Given the description of an element on the screen output the (x, y) to click on. 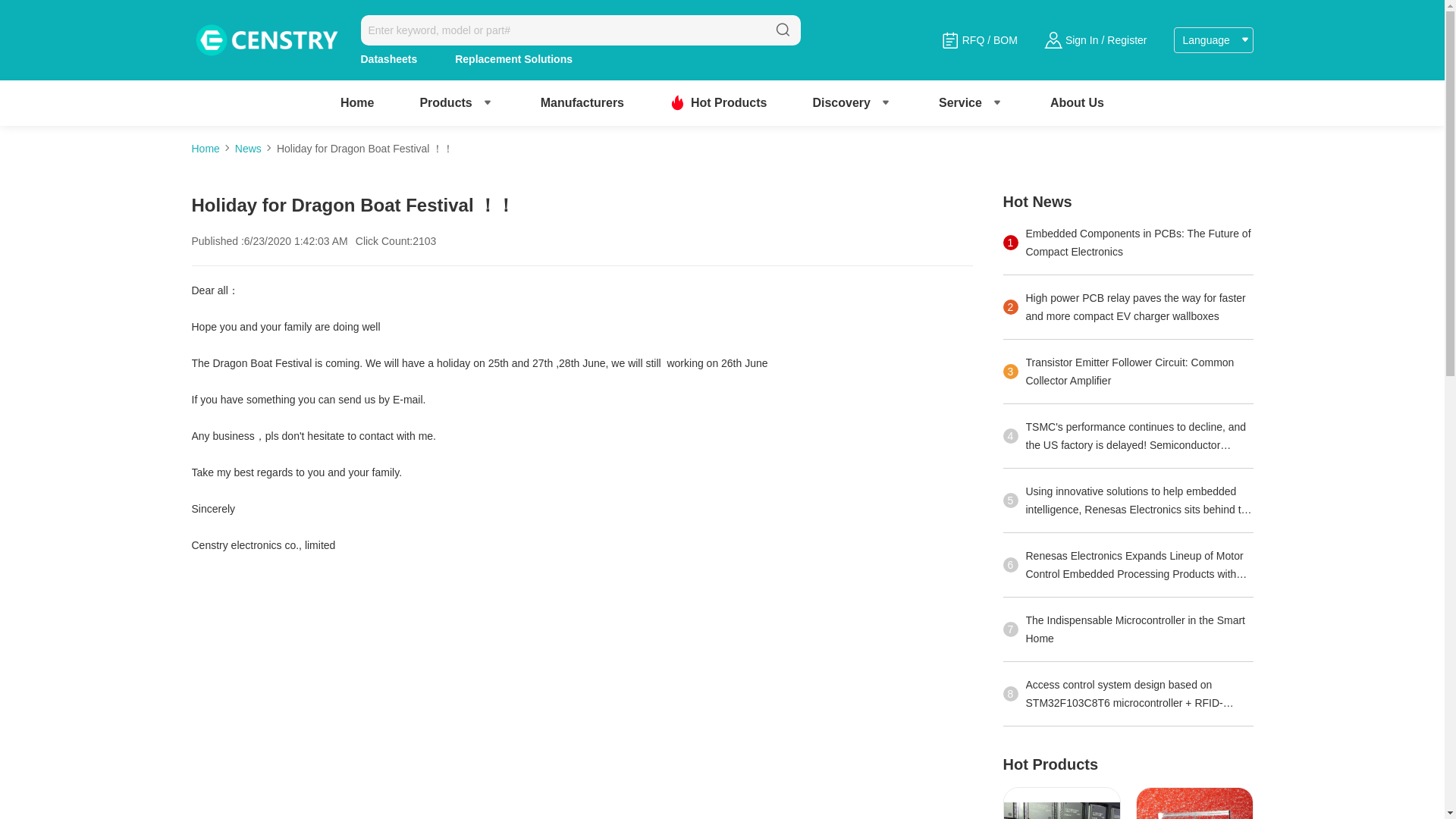
Sign In (1082, 39)
Sign In (1082, 39)
Datasheets (389, 59)
Register (1126, 39)
Register (1126, 39)
Home (357, 102)
Datasheets (389, 59)
Censtry (263, 40)
Home (357, 102)
Replacement Solutions (513, 59)
Replacement Solutions (513, 59)
Language (1213, 40)
